Given the description of an element on the screen output the (x, y) to click on. 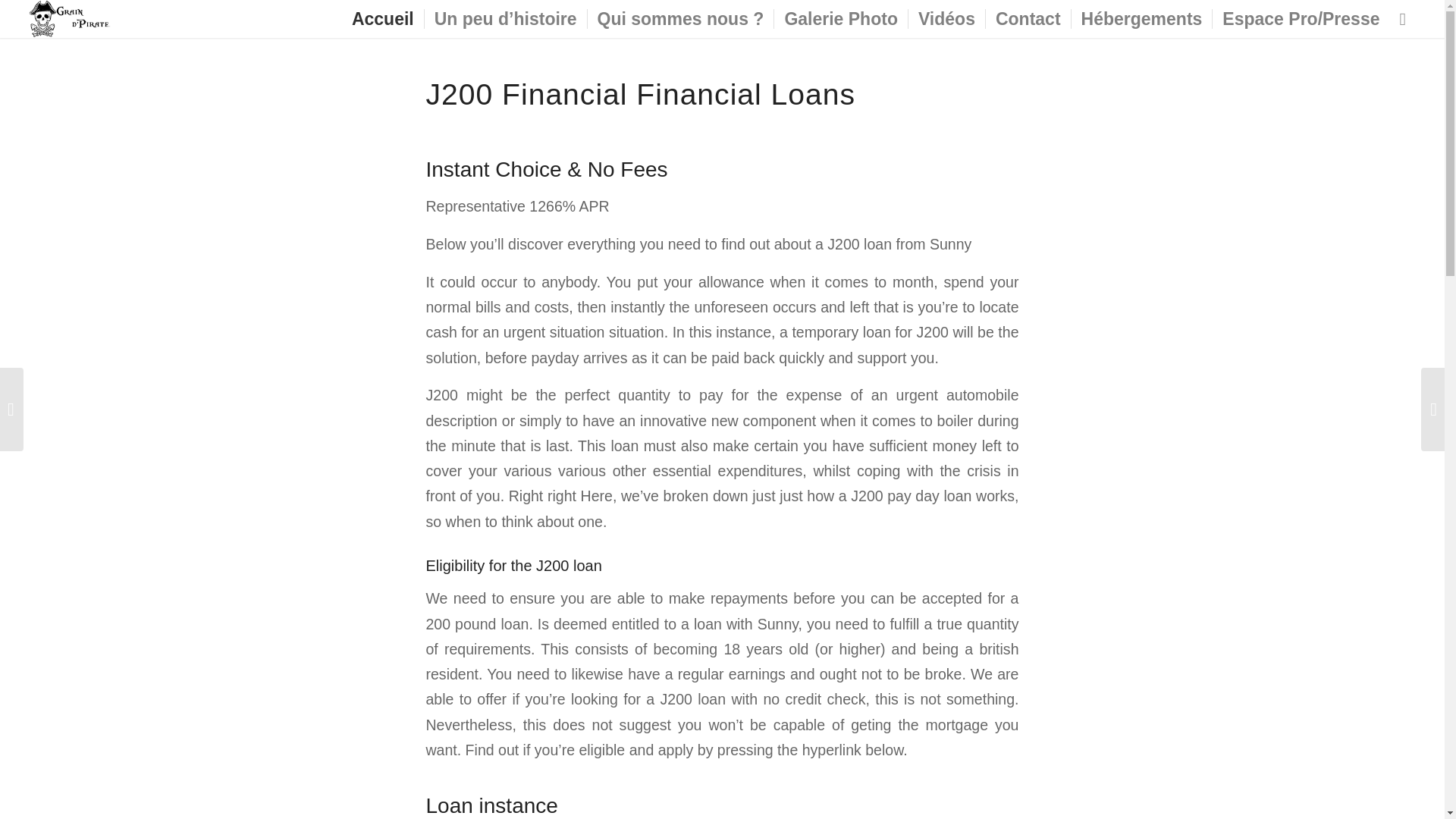
Galerie Photo (840, 18)
Qui sommes nous ? (680, 18)
Contact (1027, 18)
Accueil (382, 18)
